Given the description of an element on the screen output the (x, y) to click on. 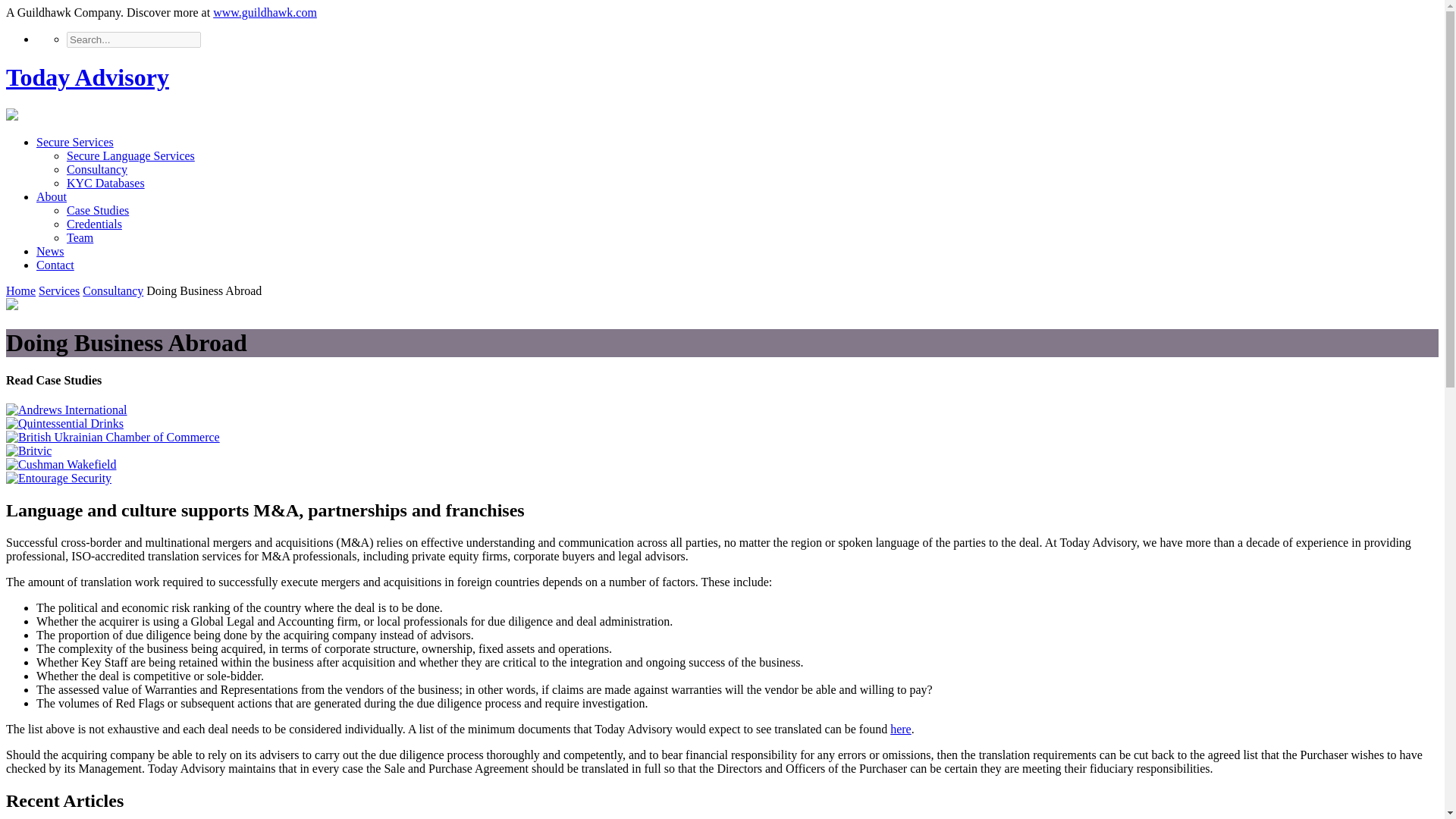
KYC Databases (105, 182)
Consultancy (97, 169)
Home (19, 290)
Credentials (94, 223)
www.guildhawk.com (264, 11)
About (51, 196)
Secure Services (74, 141)
Case Studies (97, 210)
here (900, 728)
Consultancy (112, 290)
